Given the description of an element on the screen output the (x, y) to click on. 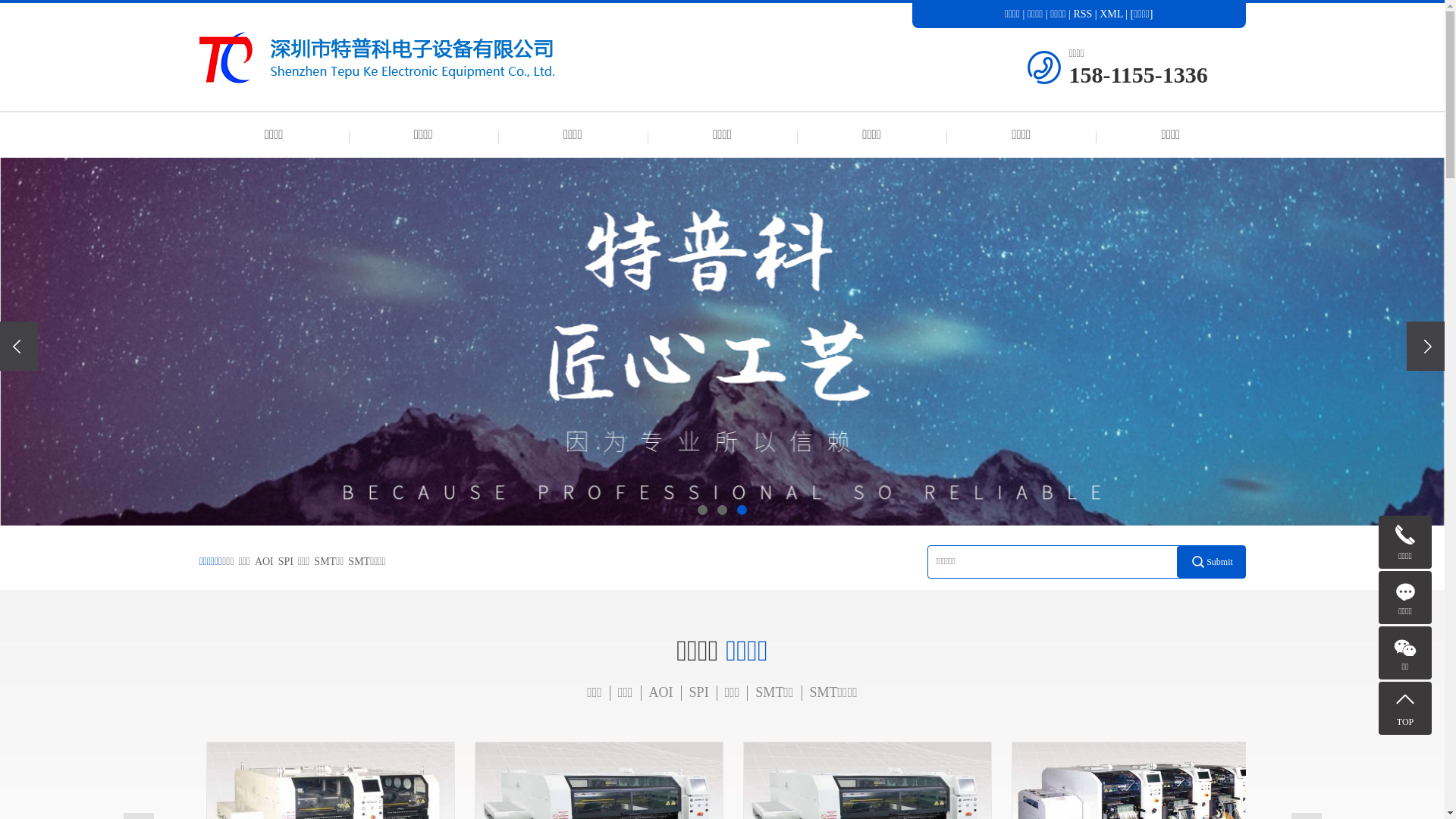
SPI Element type: text (285, 561)
AOI Element type: text (661, 691)
RSS Element type: text (1082, 13)
SPI Element type: text (699, 691)
XML Element type: text (1111, 13)
AOI Element type: text (263, 561)
TOP Element type: text (1404, 707)
